Given the description of an element on the screen output the (x, y) to click on. 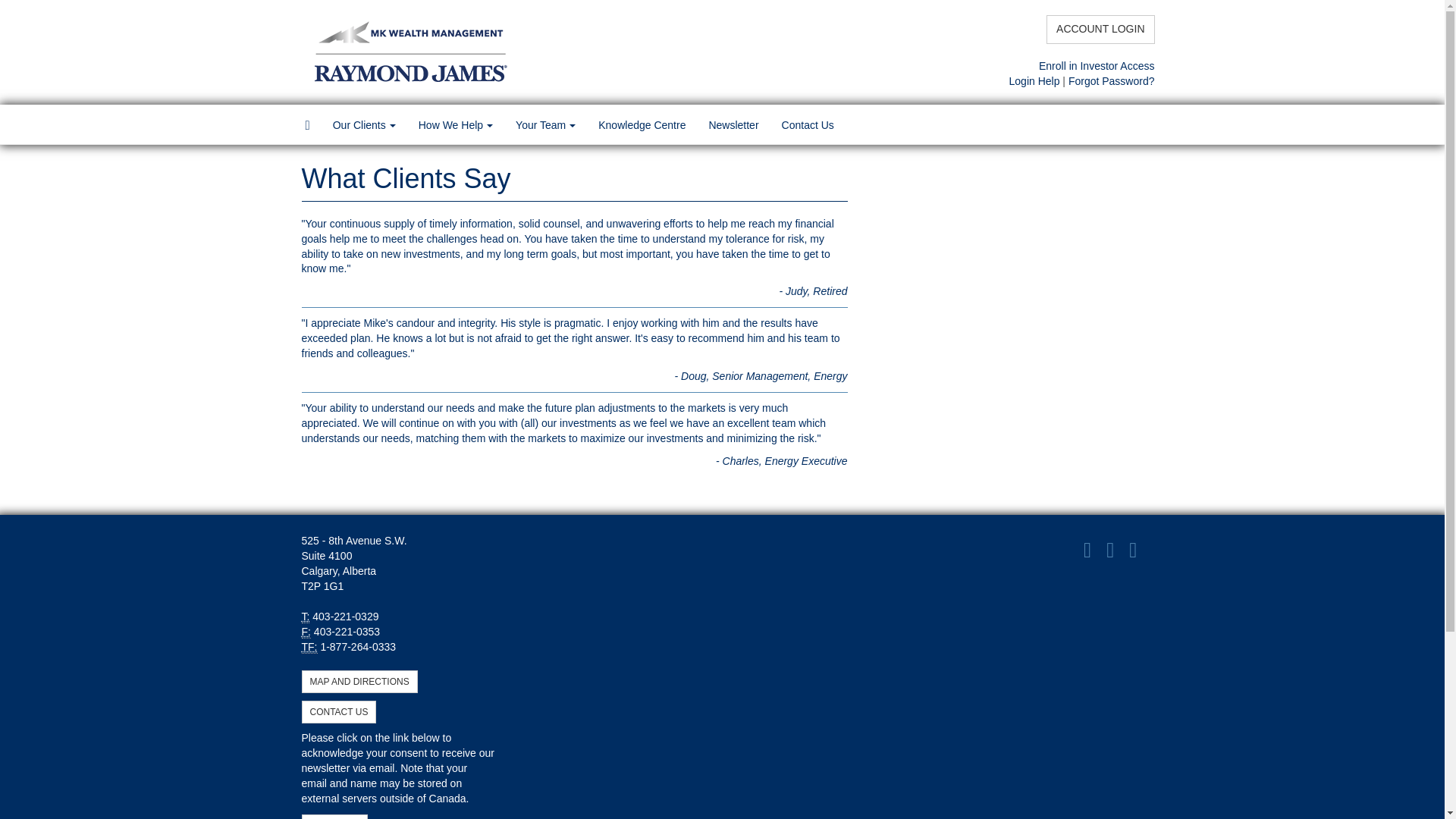
Our Clients (364, 125)
How We Help (455, 125)
Enroll in Investor Access (1096, 65)
Toll Free (309, 646)
Login Help (1034, 80)
ACCOUNT LOGIN (1100, 29)
Your Team (544, 125)
Forgot Password? (1111, 80)
